Given the description of an element on the screen output the (x, y) to click on. 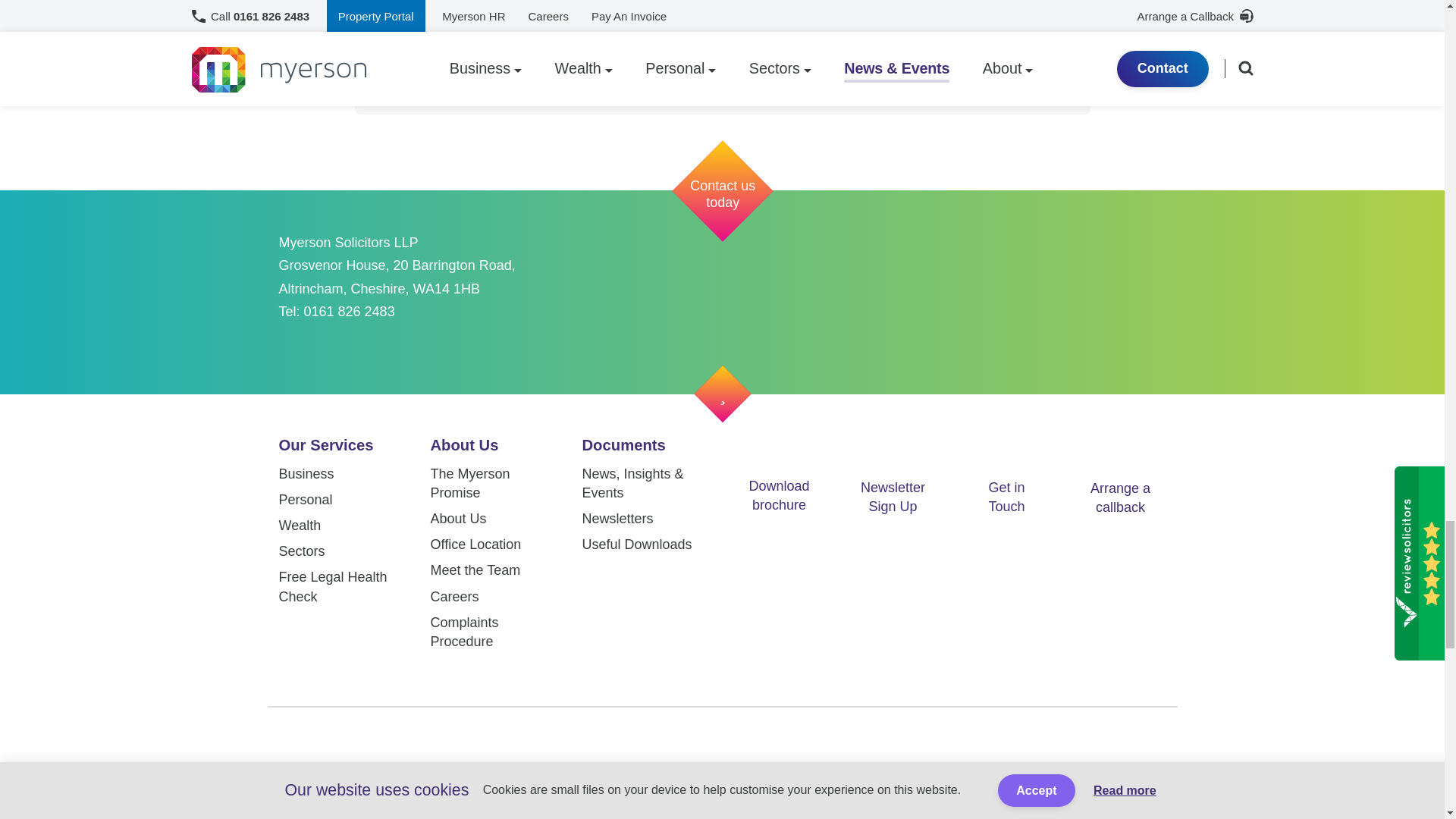
Myerson Solicitors LLP on Instagram (780, 745)
Business (306, 473)
Myerson Solicitors LLP on Twitter (599, 745)
Contact us today (706, 175)
data protection statement. (646, 64)
Myerson Solicitors LLP on LinkedIn (720, 745)
Send Message (721, 11)
Wealth (300, 525)
Personal (306, 499)
Sectors (301, 550)
